Given the description of an element on the screen output the (x, y) to click on. 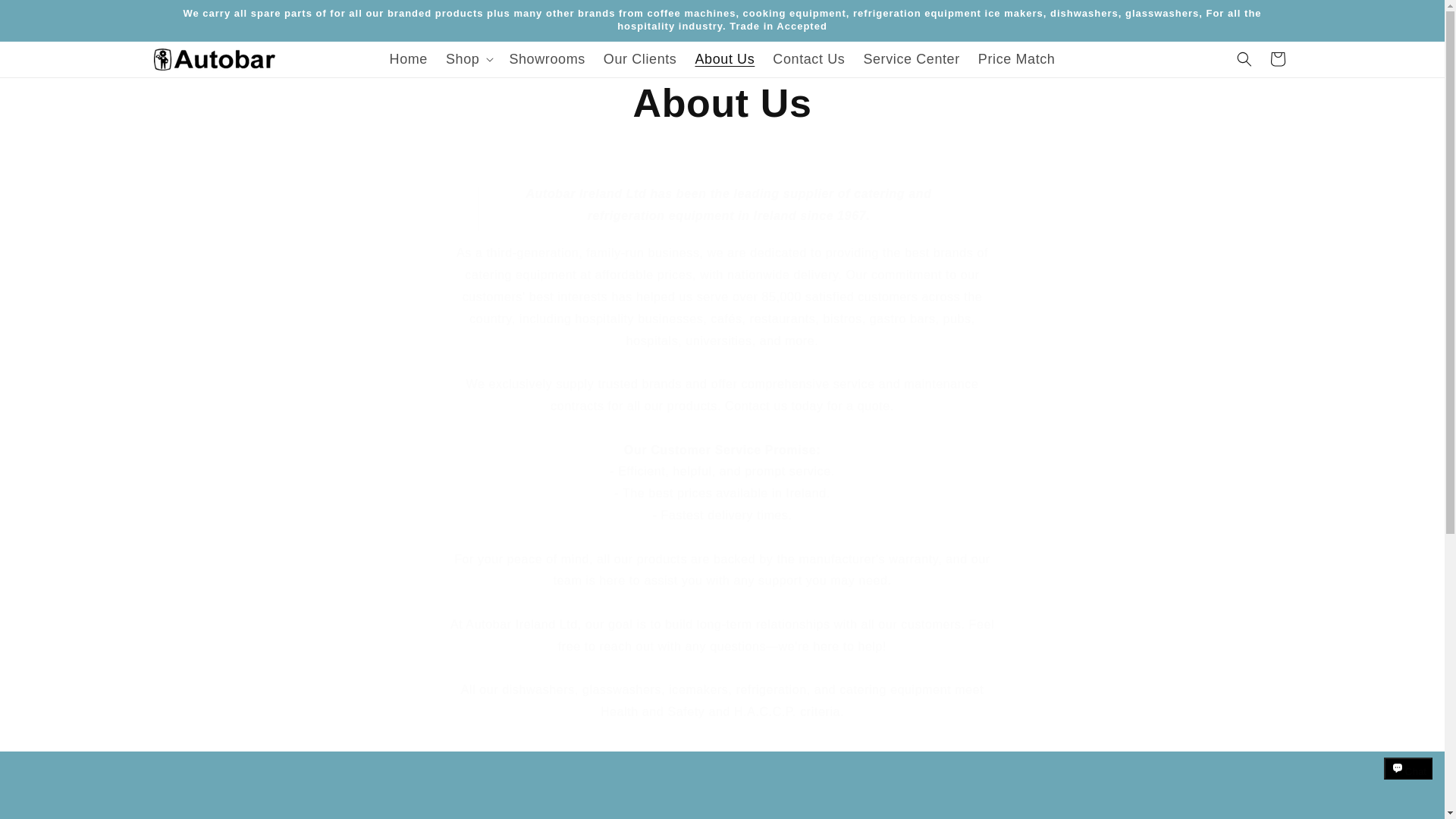
Skip to content (45, 17)
Showrooms (546, 58)
Price Match (1016, 58)
Service Center (910, 58)
Our Clients (639, 58)
About Us (723, 58)
About Us (721, 103)
Home (408, 58)
